Given the description of an element on the screen output the (x, y) to click on. 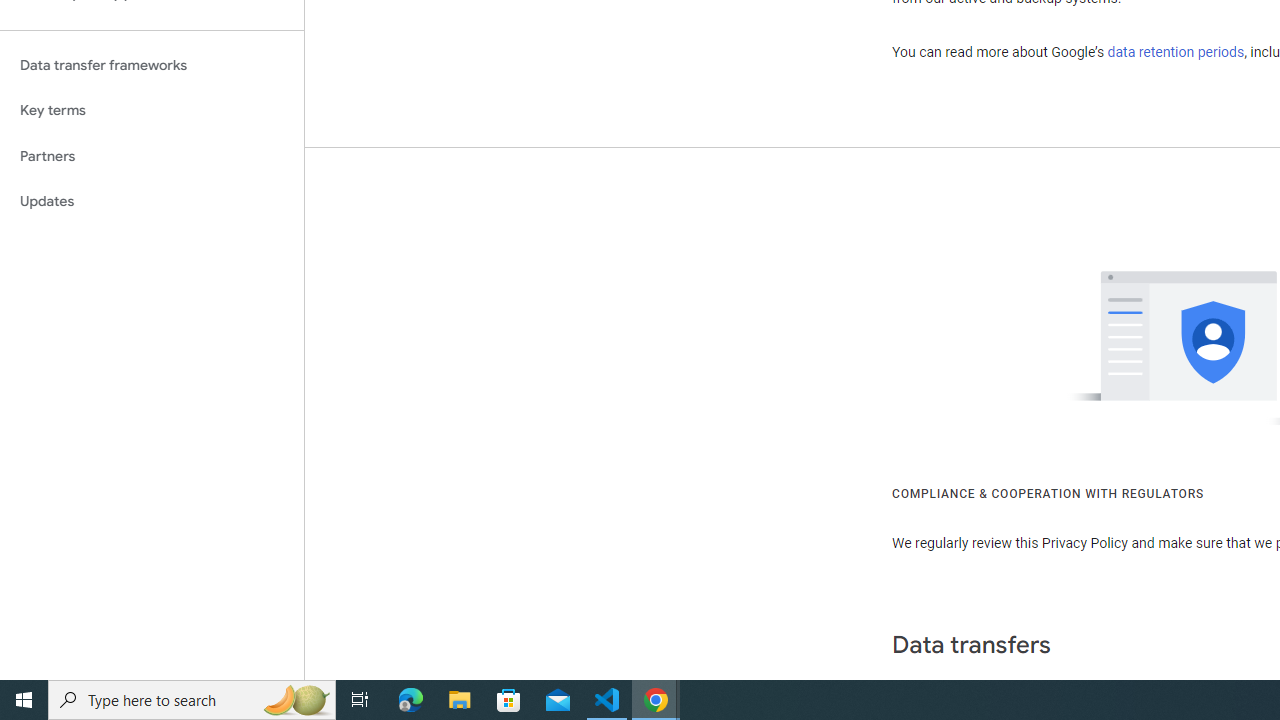
Key terms (152, 110)
Updates (152, 201)
Data transfer frameworks (152, 65)
Partners (152, 156)
data retention periods (1176, 52)
